Given the description of an element on the screen output the (x, y) to click on. 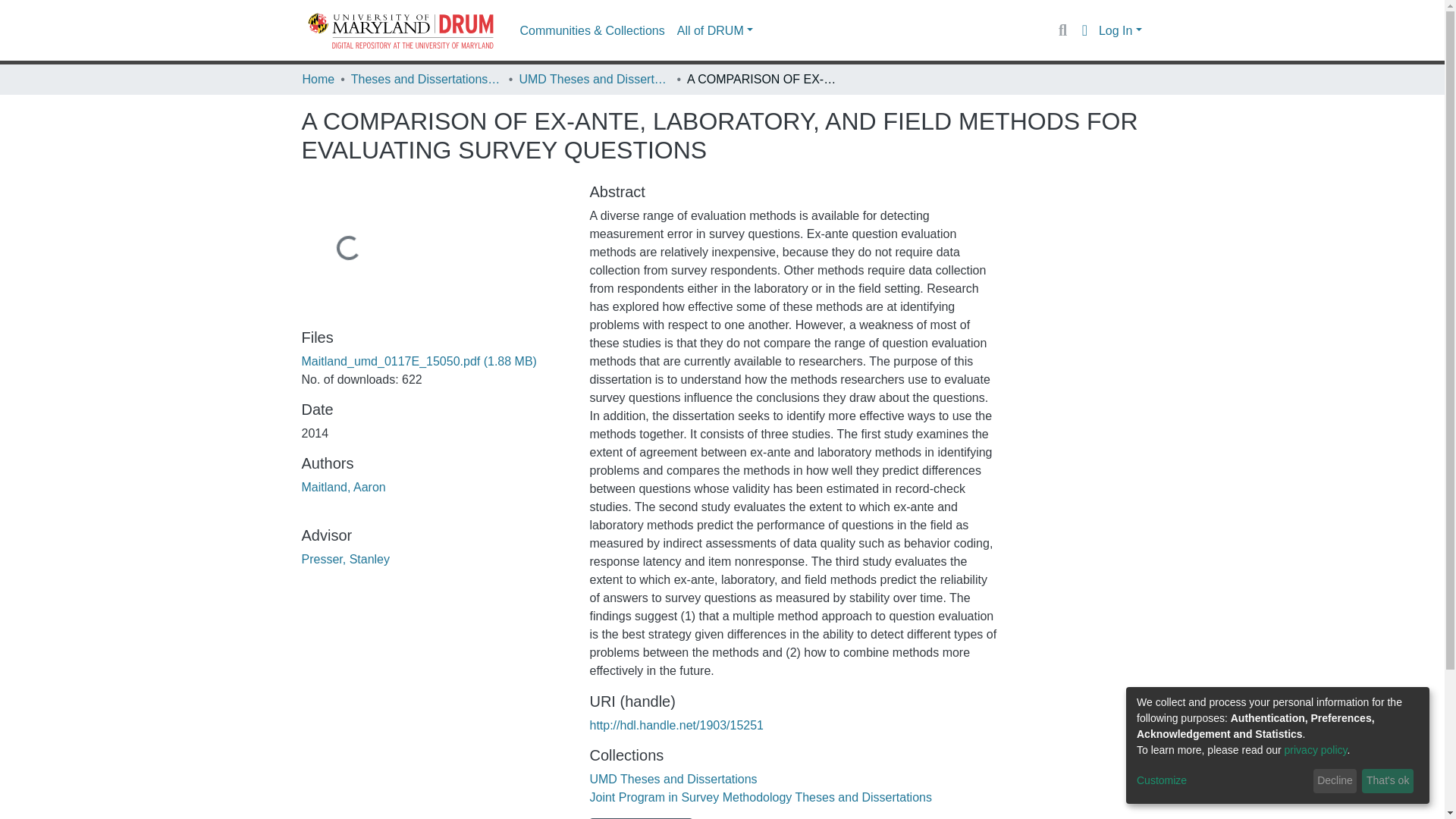
Theses and Dissertations from UMD (426, 79)
privacy policy (1316, 749)
Presser, Stanley (345, 558)
Home (317, 79)
Search (1061, 30)
UMD Theses and Dissertations (673, 779)
Language switch (1084, 30)
Maitland, Aaron (343, 486)
All of DRUM (714, 30)
Log In (1119, 30)
Customize (1222, 780)
UMD Theses and Dissertations (593, 79)
Joint Program in Survey Methodology Theses and Dissertations (760, 797)
